Given the description of an element on the screen output the (x, y) to click on. 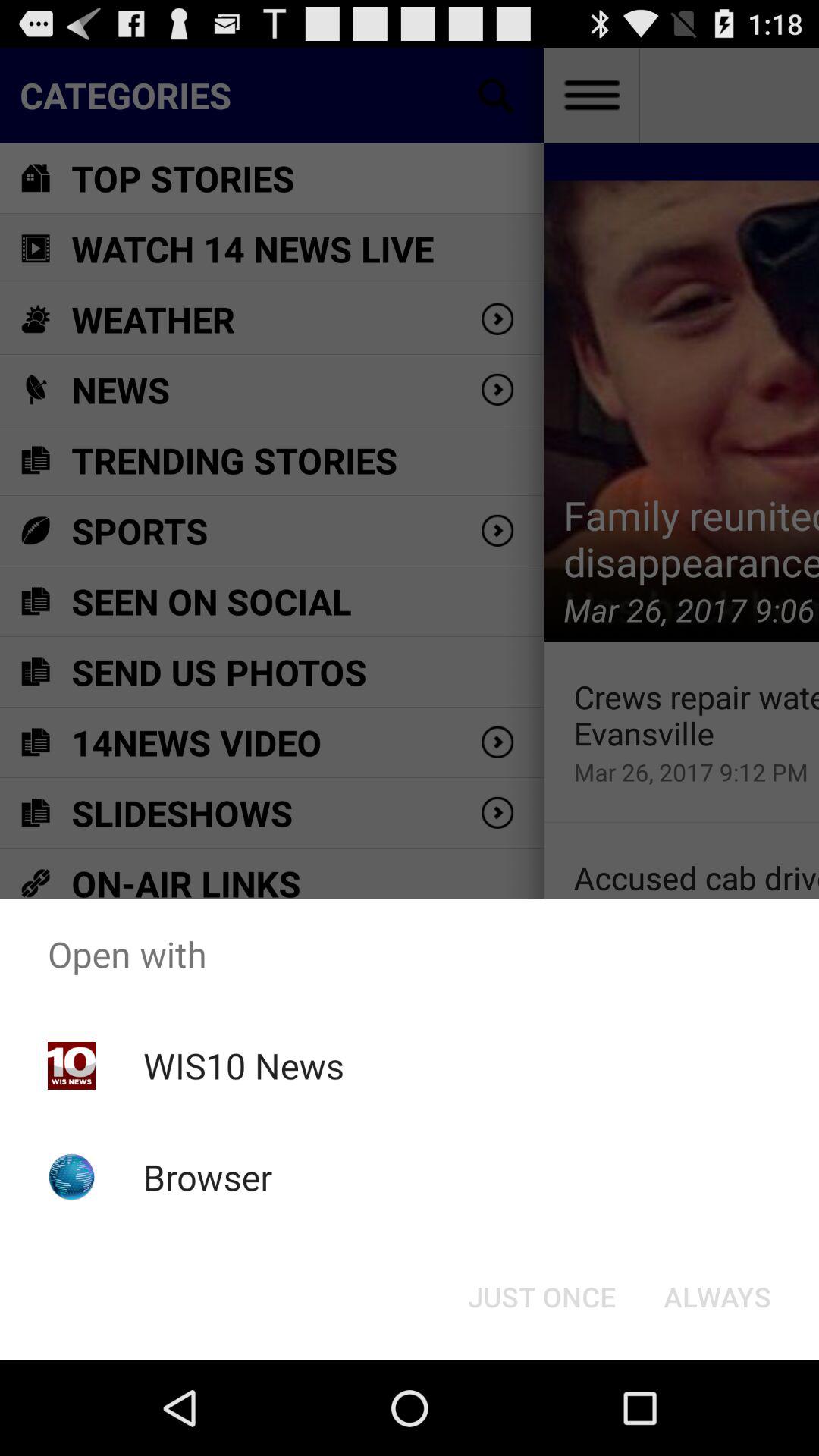
open the icon above the browser icon (243, 1065)
